Given the description of an element on the screen output the (x, y) to click on. 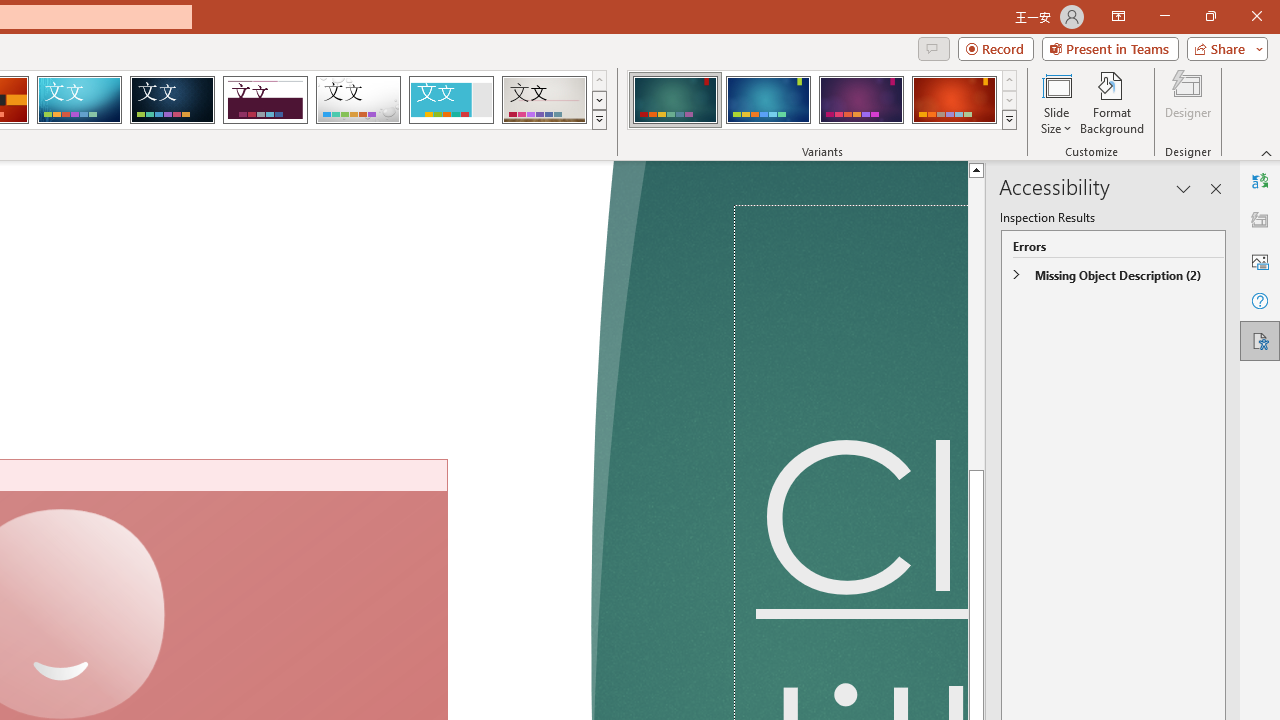
Row up (1009, 79)
Frame (450, 100)
Ion Variant 1 (674, 100)
Task Pane Options (1183, 188)
Themes (598, 120)
Ion Variant 3 (861, 100)
Ion Variant 4 (953, 100)
